Given the description of an element on the screen output the (x, y) to click on. 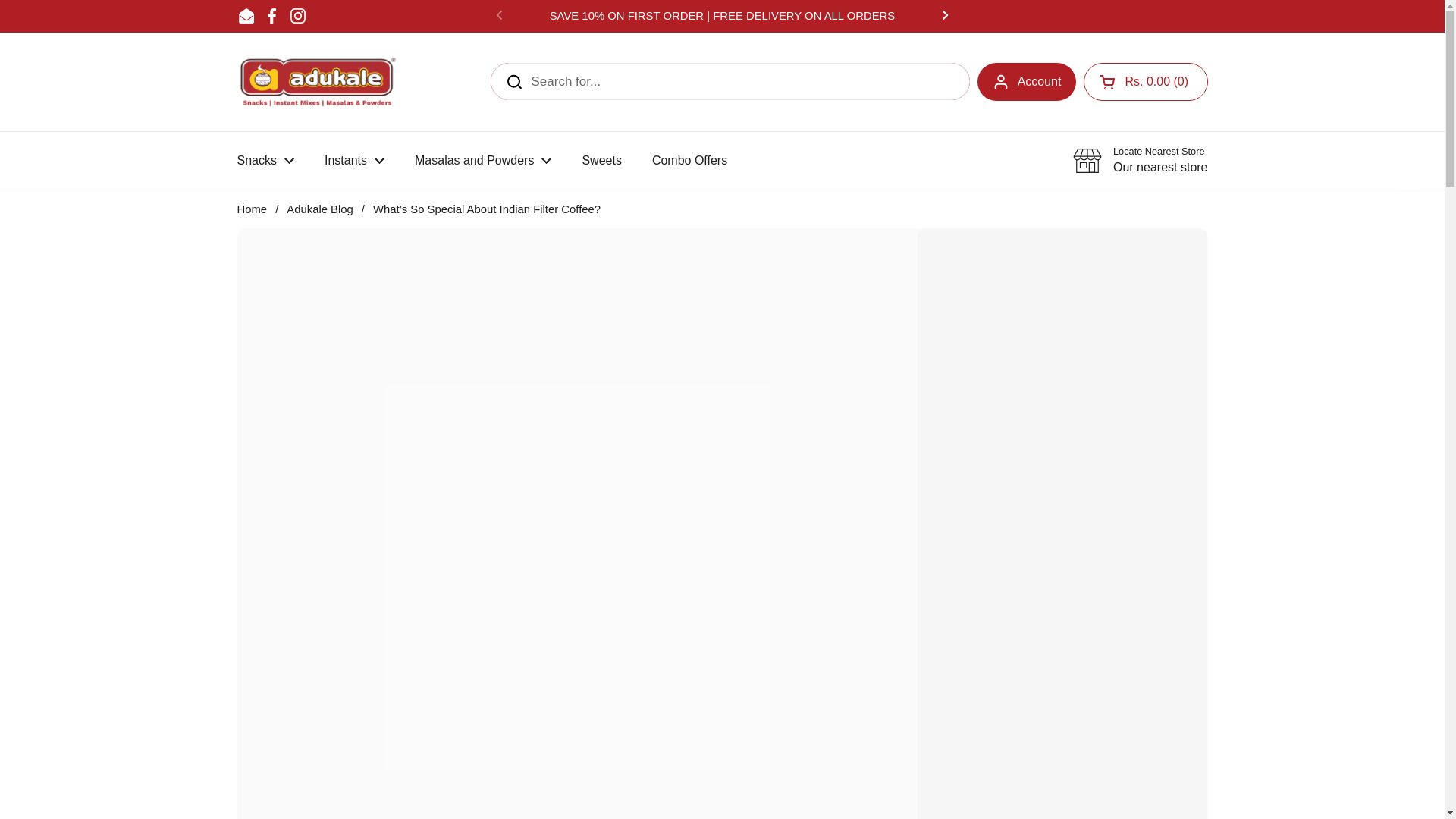
Adukale (1140, 160)
Skip to content (316, 81)
Facebook (1145, 81)
Snacks (271, 15)
Email (482, 160)
Combo Offers (264, 160)
Open cart (244, 15)
Account (689, 160)
Instants (1145, 81)
Instagram (1026, 81)
Sweets (353, 160)
